Given the description of an element on the screen output the (x, y) to click on. 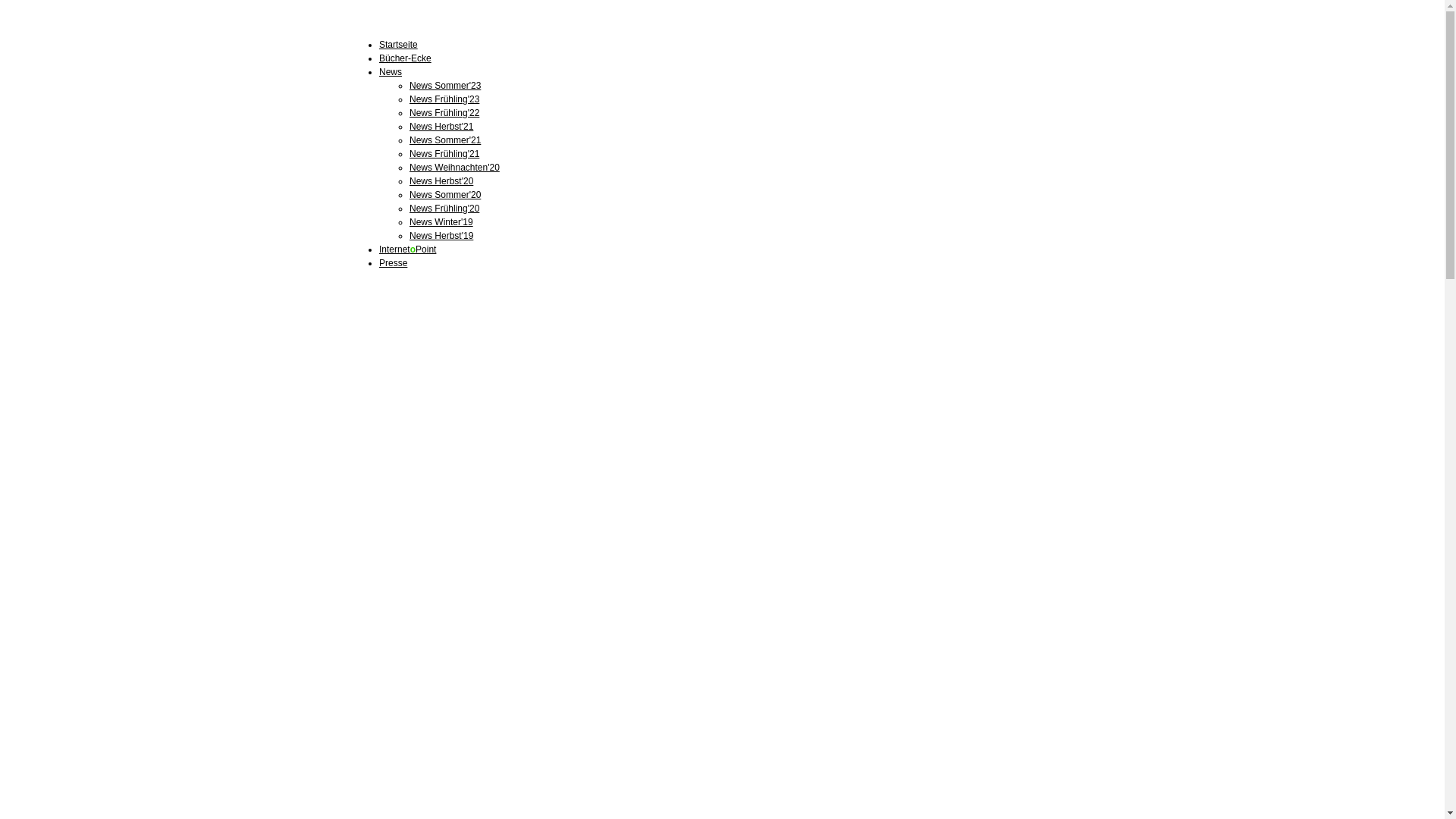
News Sommer'20 Element type: text (444, 194)
InternetoPoint Element type: text (407, 249)
News Winter'19 Element type: text (441, 221)
Presse Element type: text (393, 262)
News Herbst'20 Element type: text (441, 180)
News Herbst'21 Element type: text (441, 126)
News Element type: text (390, 71)
News Sommer'21 Element type: text (444, 139)
Startseite Element type: text (398, 44)
News Sommer'23 Element type: text (444, 85)
News Herbst'19 Element type: text (441, 235)
News Weihnachten'20 Element type: text (454, 167)
